Given the description of an element on the screen output the (x, y) to click on. 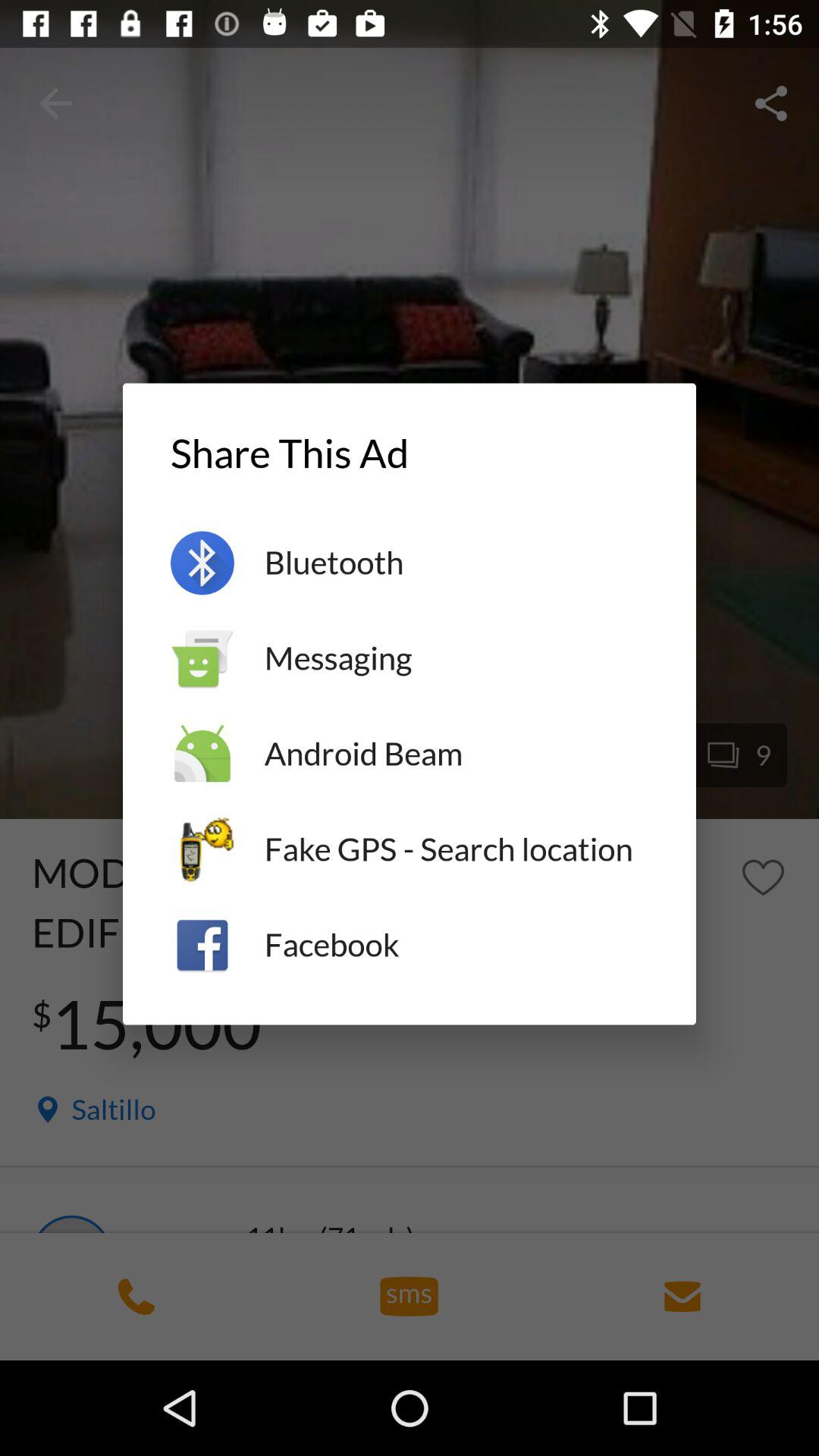
turn off item above fake gps search item (456, 753)
